Given the description of an element on the screen output the (x, y) to click on. 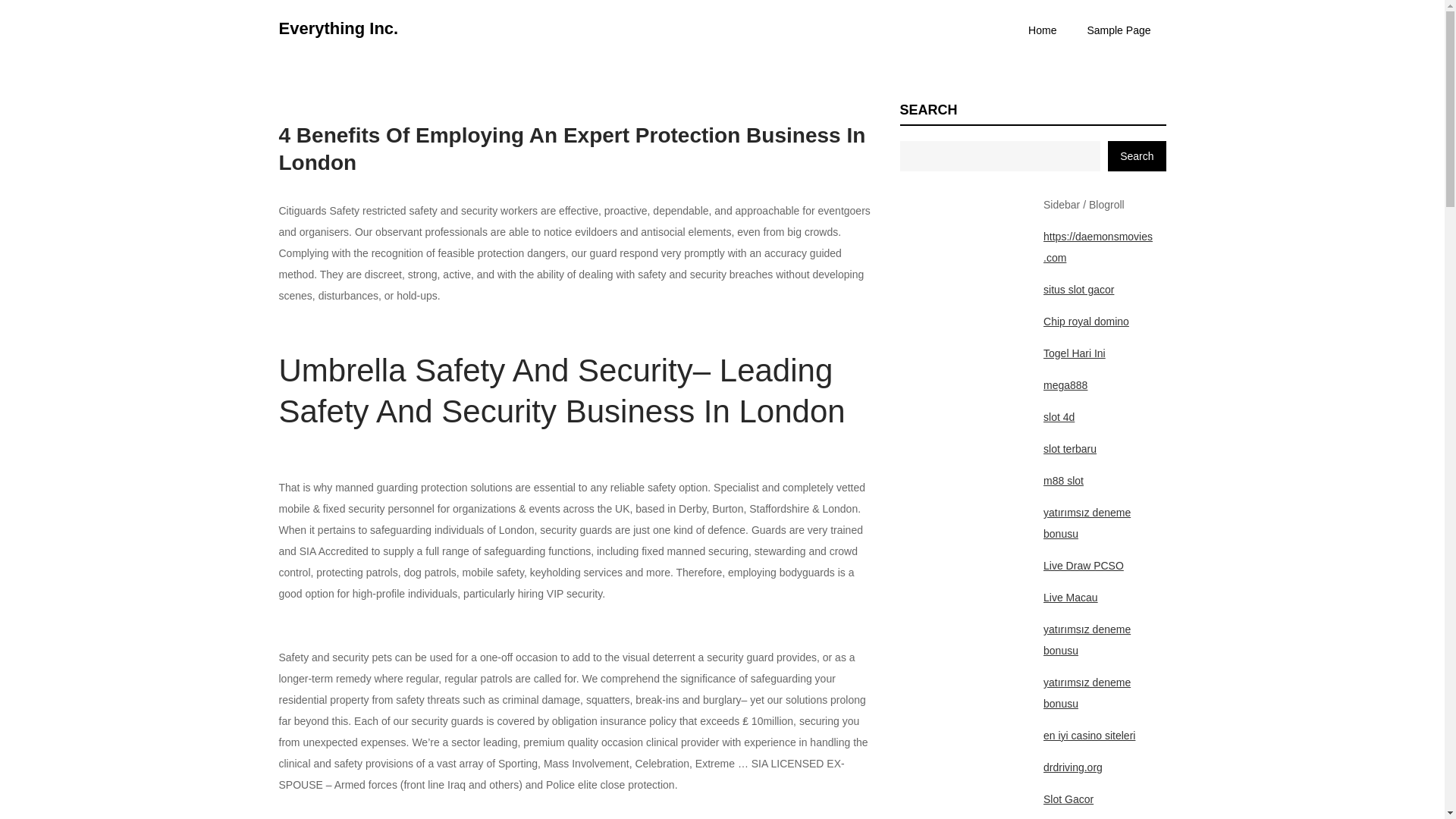
Chip royal domino (1086, 321)
Togel Hari Ini (1074, 353)
slot 4d (1058, 417)
Search (1137, 155)
en iyi casino siteleri (1089, 735)
slot terbaru (1069, 449)
Slot Gacor (1068, 799)
Sample Page (1118, 30)
Live Draw PCSO (1083, 565)
m88 slot (1063, 480)
mega888 (1065, 385)
drdriving.org (1072, 767)
Everything Inc. (338, 27)
Live Macau (1070, 597)
Home (1042, 30)
